Given the description of an element on the screen output the (x, y) to click on. 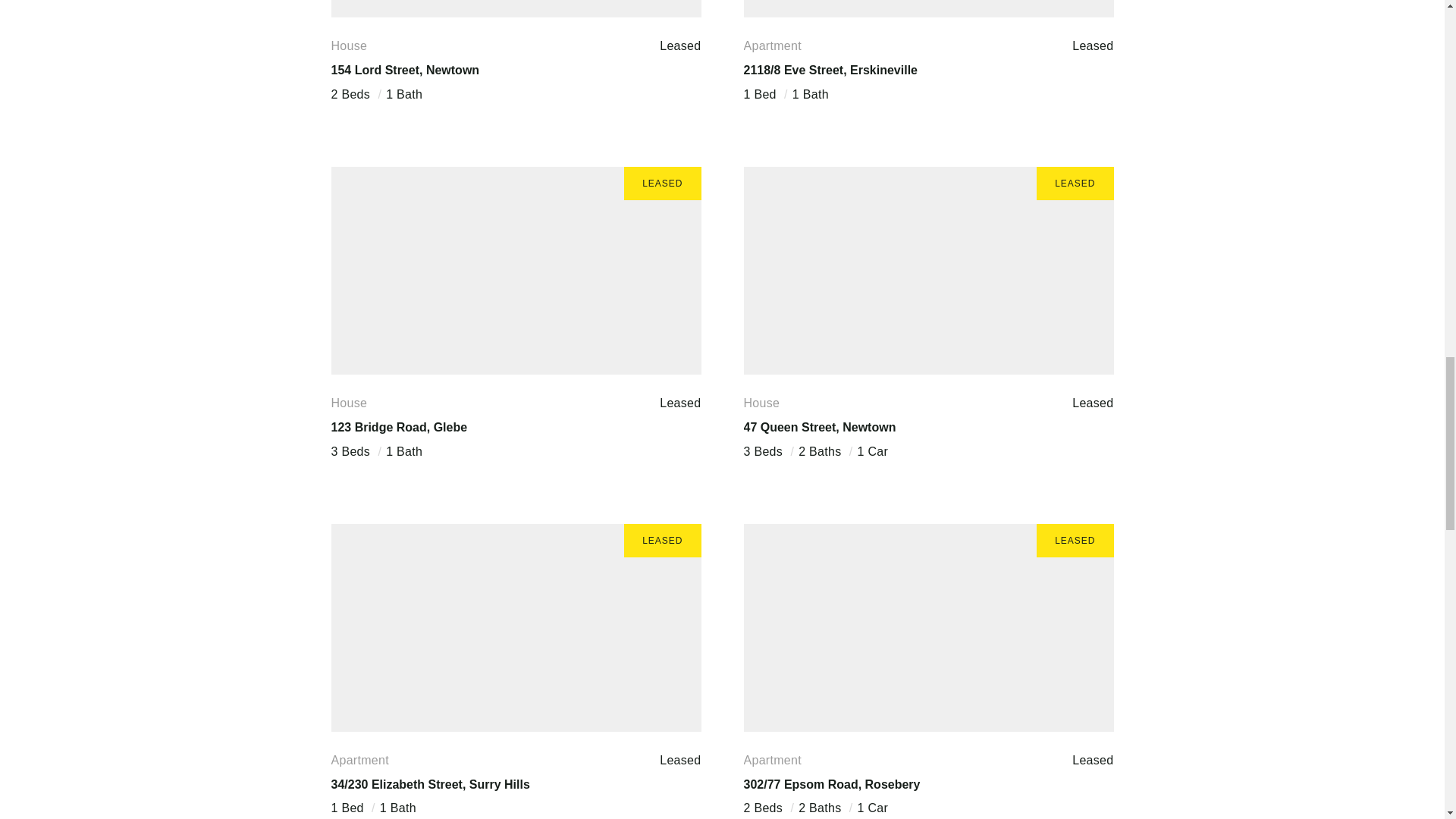
LEASED (927, 628)
LEASED (515, 271)
123 Bridge Road, Glebe (398, 427)
LEASED (515, 9)
LEASED (927, 9)
LEASED (927, 271)
154 Lord Street, Newtown (404, 69)
LEASED (515, 628)
47 Queen Street, Newtown (818, 427)
